Given the description of an element on the screen output the (x, y) to click on. 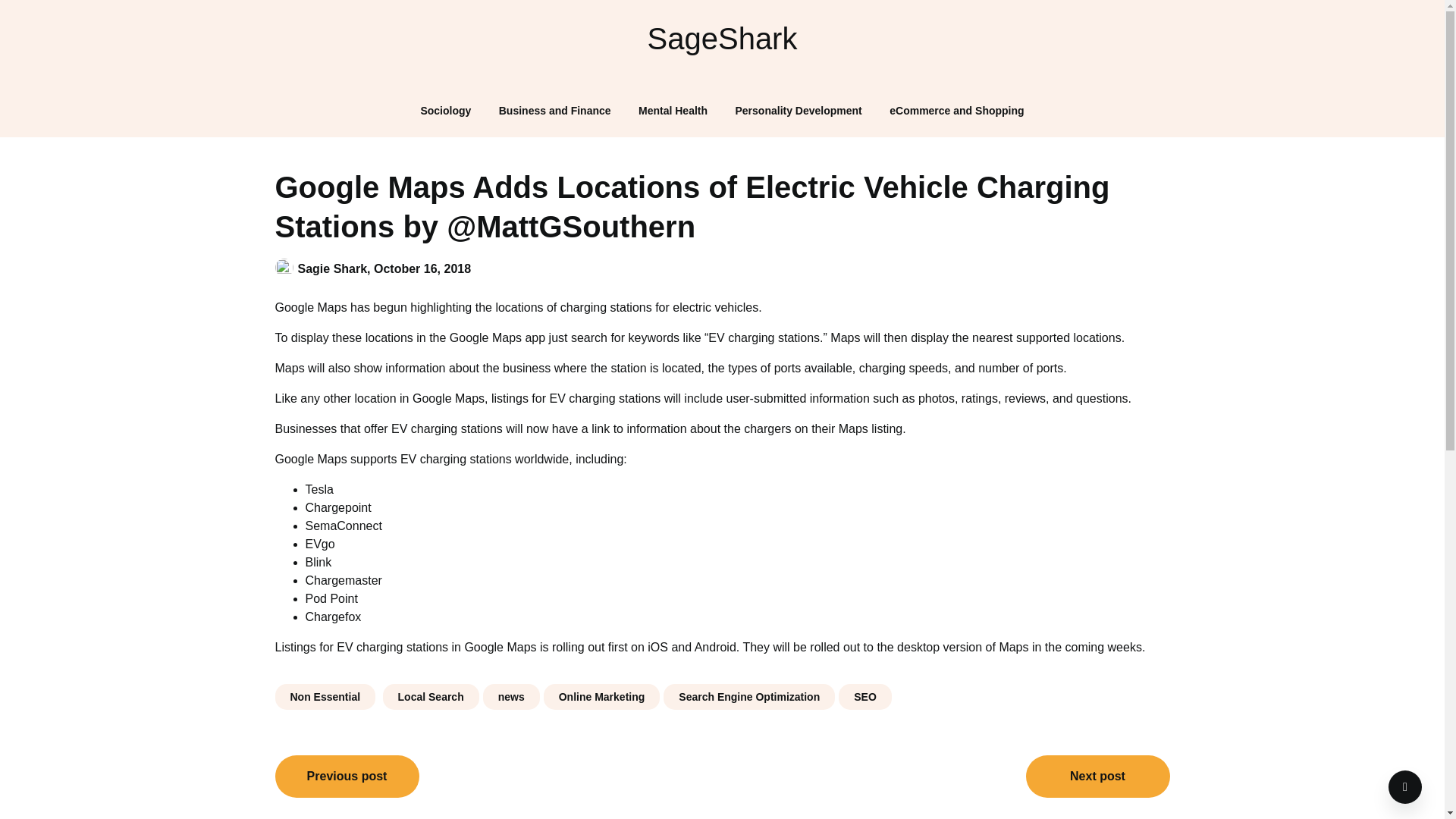
Non Essential (325, 696)
SageShark (722, 38)
SEO (864, 696)
Business and Finance (554, 111)
Personality Development (799, 111)
To Top (1405, 786)
news (511, 696)
Sociology (445, 111)
Search Engine Optimization (748, 696)
Local Search (430, 696)
Previous post (347, 776)
Mental Health (672, 111)
Next post (1097, 776)
Online Marketing (602, 696)
October 16, 2018 (422, 268)
